Given the description of an element on the screen output the (x, y) to click on. 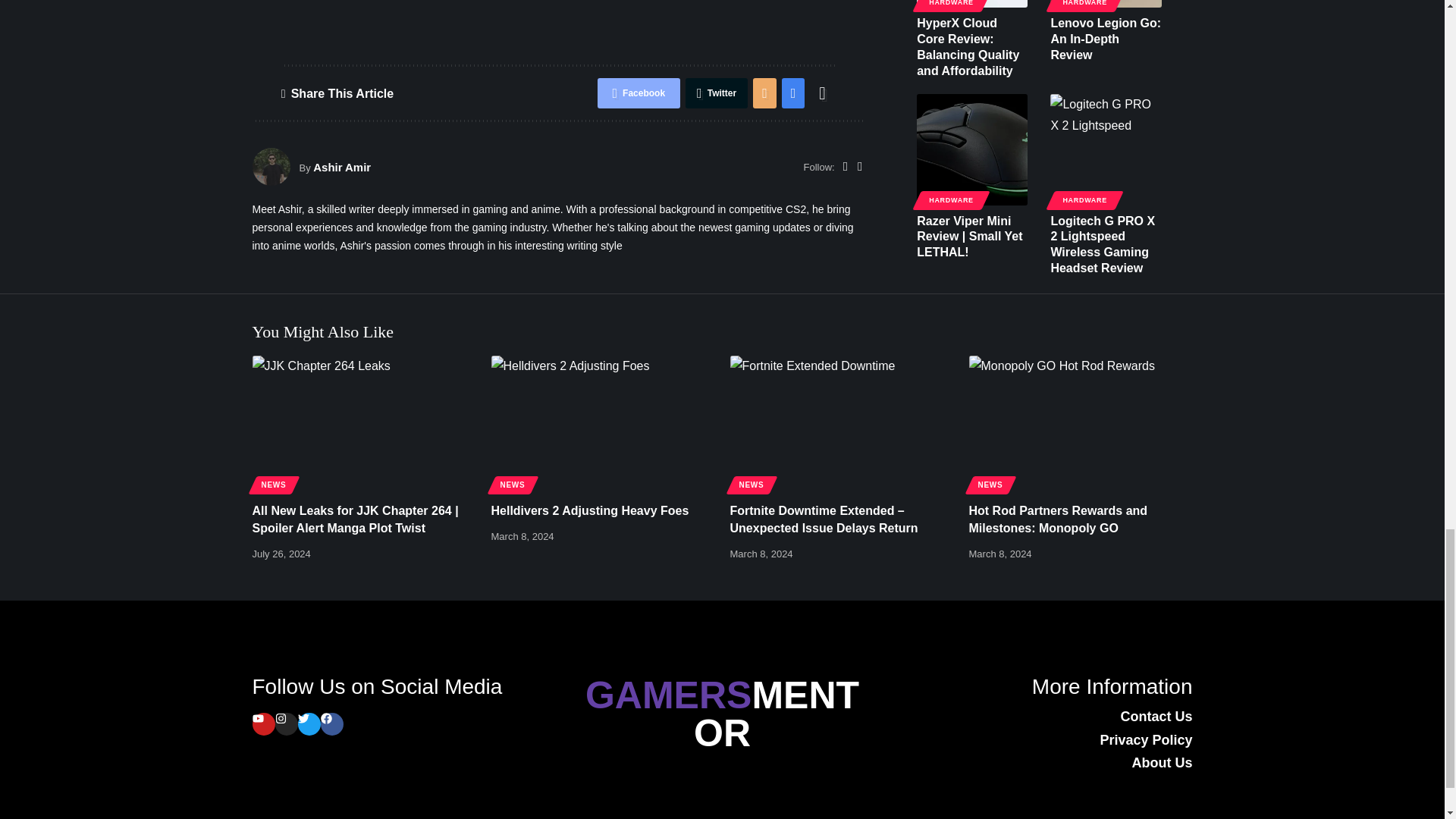
Helldivers 2 Adjusting Heavy Foes (603, 422)
Hot Rod Partners Rewards and Milestones: Monopoly GO (1080, 422)
